Given the description of an element on the screen output the (x, y) to click on. 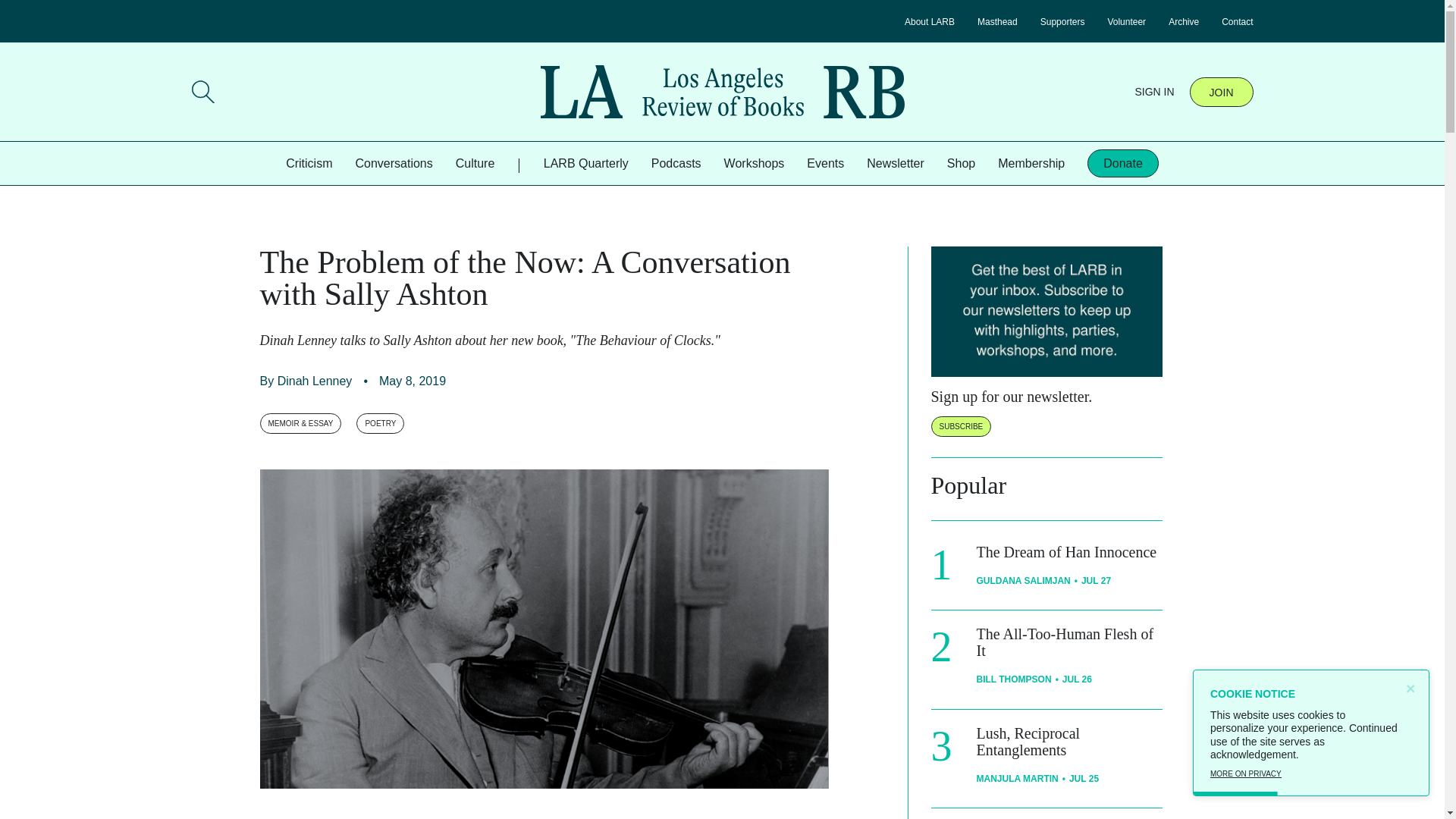
JOIN (1221, 91)
Shop (961, 163)
Workshops (753, 163)
About LARB (929, 21)
Supporters (1062, 21)
POETRY (380, 423)
Criticism (308, 163)
Podcasts (675, 163)
Culture (475, 163)
Events (825, 163)
SIGN IN (1153, 91)
Donate (1122, 163)
Volunteer (1125, 21)
Newsletter (895, 163)
LARB Quarterly (585, 163)
